Given the description of an element on the screen output the (x, y) to click on. 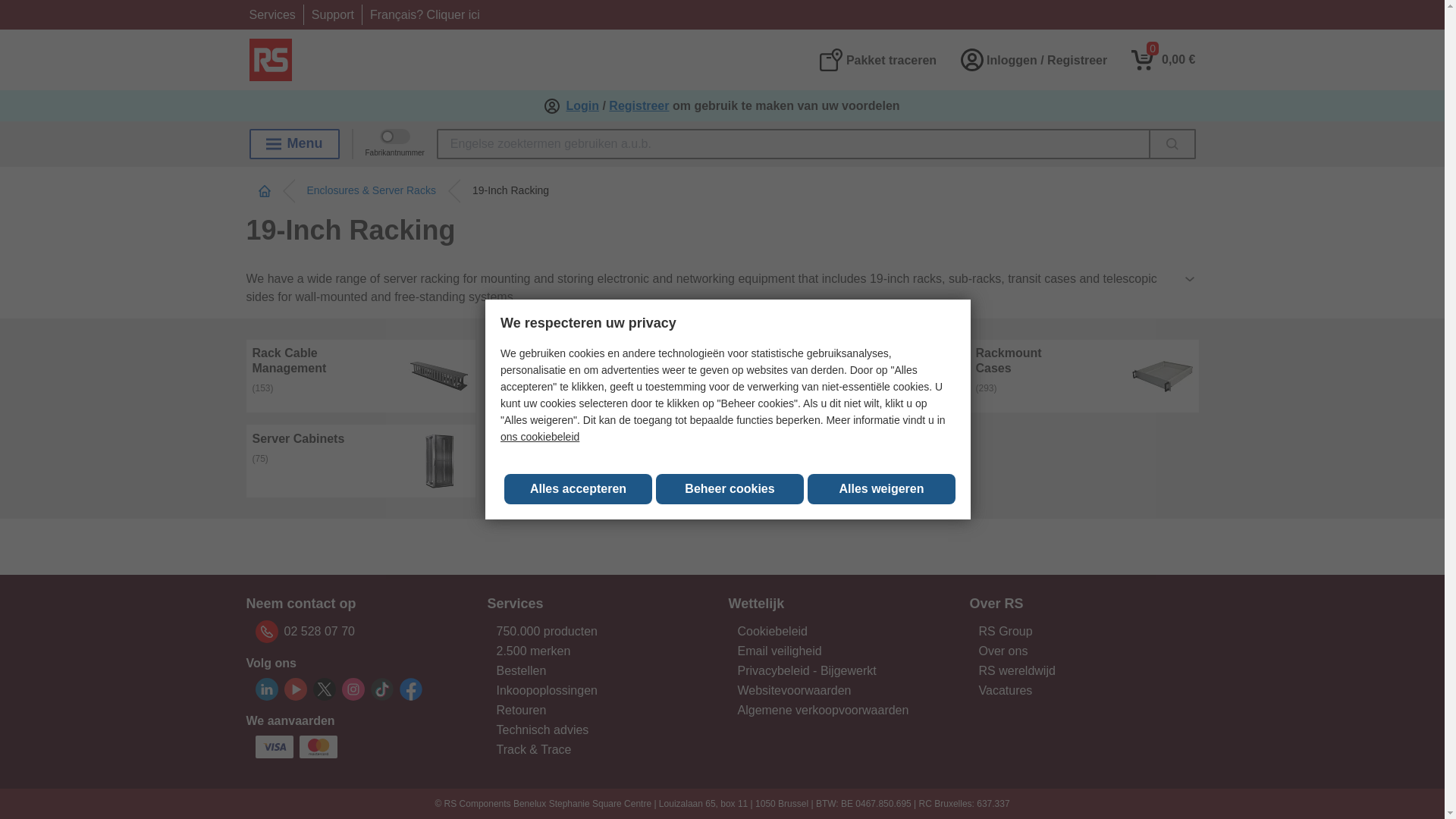
Registreer (638, 105)
0 (1163, 59)
Login (582, 105)
Menu (293, 143)
Support (332, 14)
Services (271, 14)
Pakket traceren (877, 59)
